Given the description of an element on the screen output the (x, y) to click on. 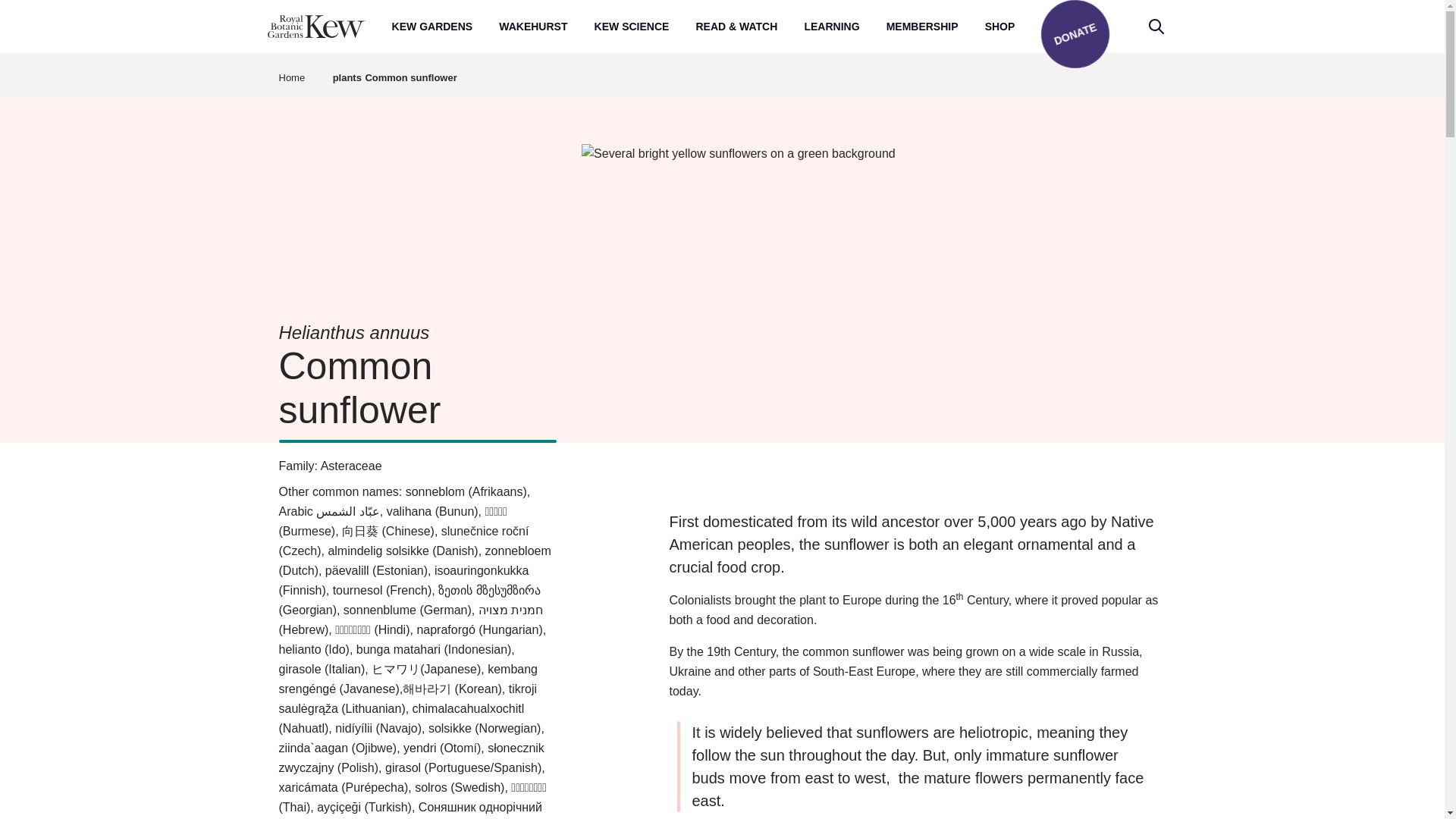
Kew Gardens (432, 26)
Kew Science (631, 26)
LEARNING (831, 26)
Wakehurst (533, 26)
KEW SCIENCE (631, 26)
KEW GARDENS (432, 26)
MEMBERSHIP (922, 26)
WAKEHURST (533, 26)
